Given the description of an element on the screen output the (x, y) to click on. 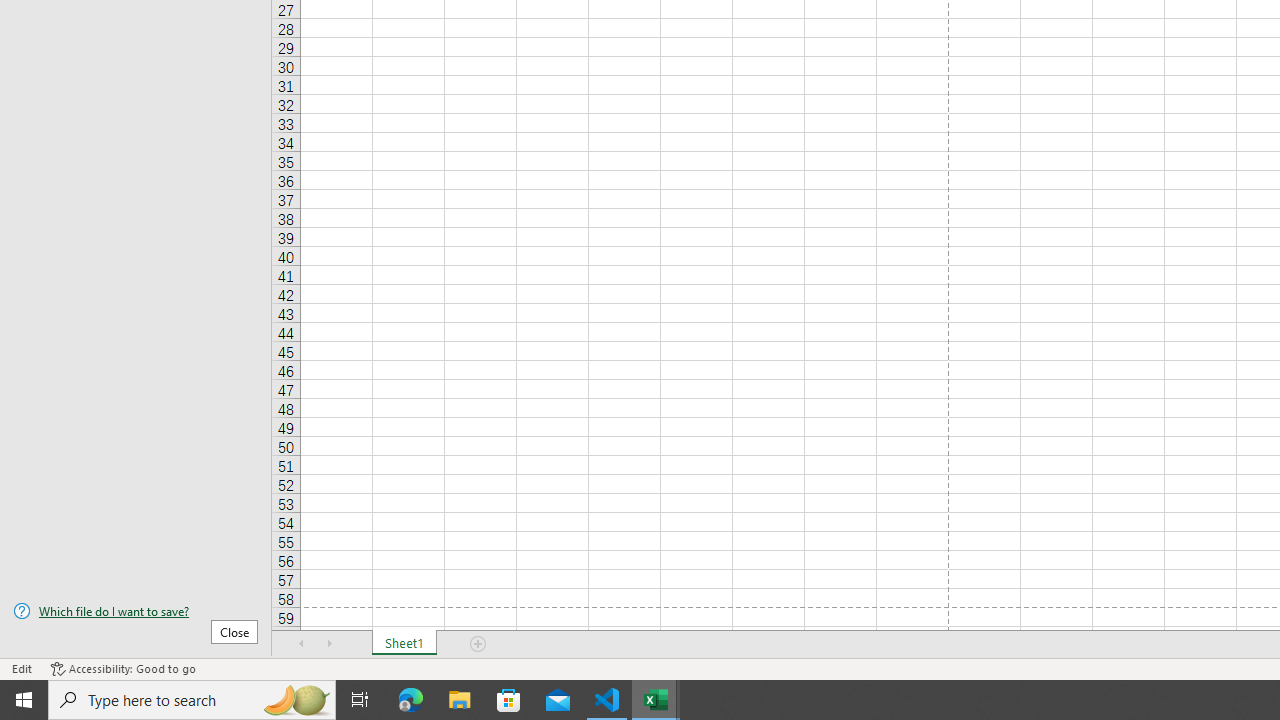
Scroll Right (330, 644)
Accessibility Checker Accessibility: Good to go (123, 668)
Which file do I want to save? (136, 611)
Scroll Left (302, 644)
Sheet1 (404, 644)
Add Sheet (478, 644)
